Given the description of an element on the screen output the (x, y) to click on. 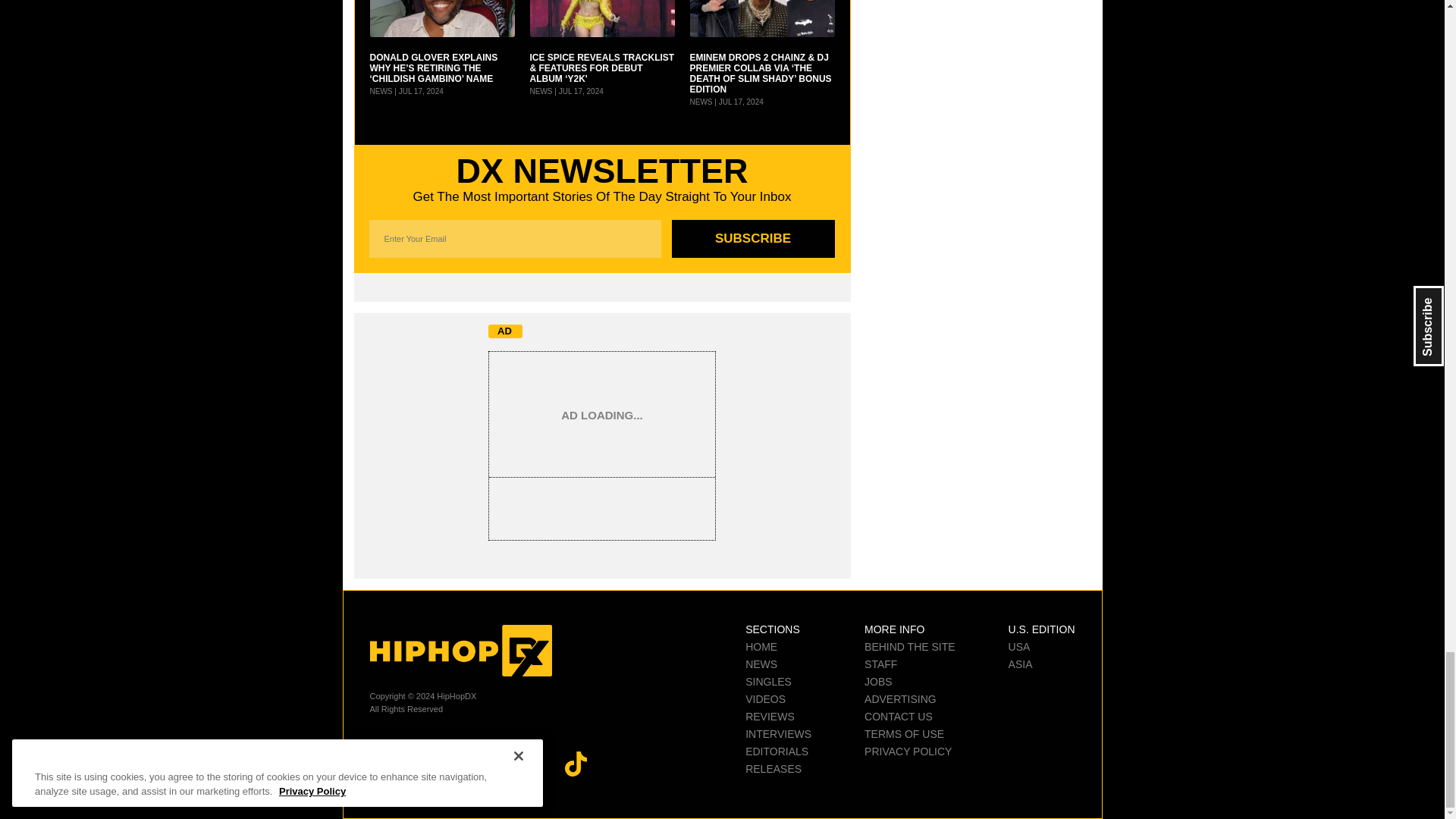
HipHopDX (460, 650)
